Given the description of an element on the screen output the (x, y) to click on. 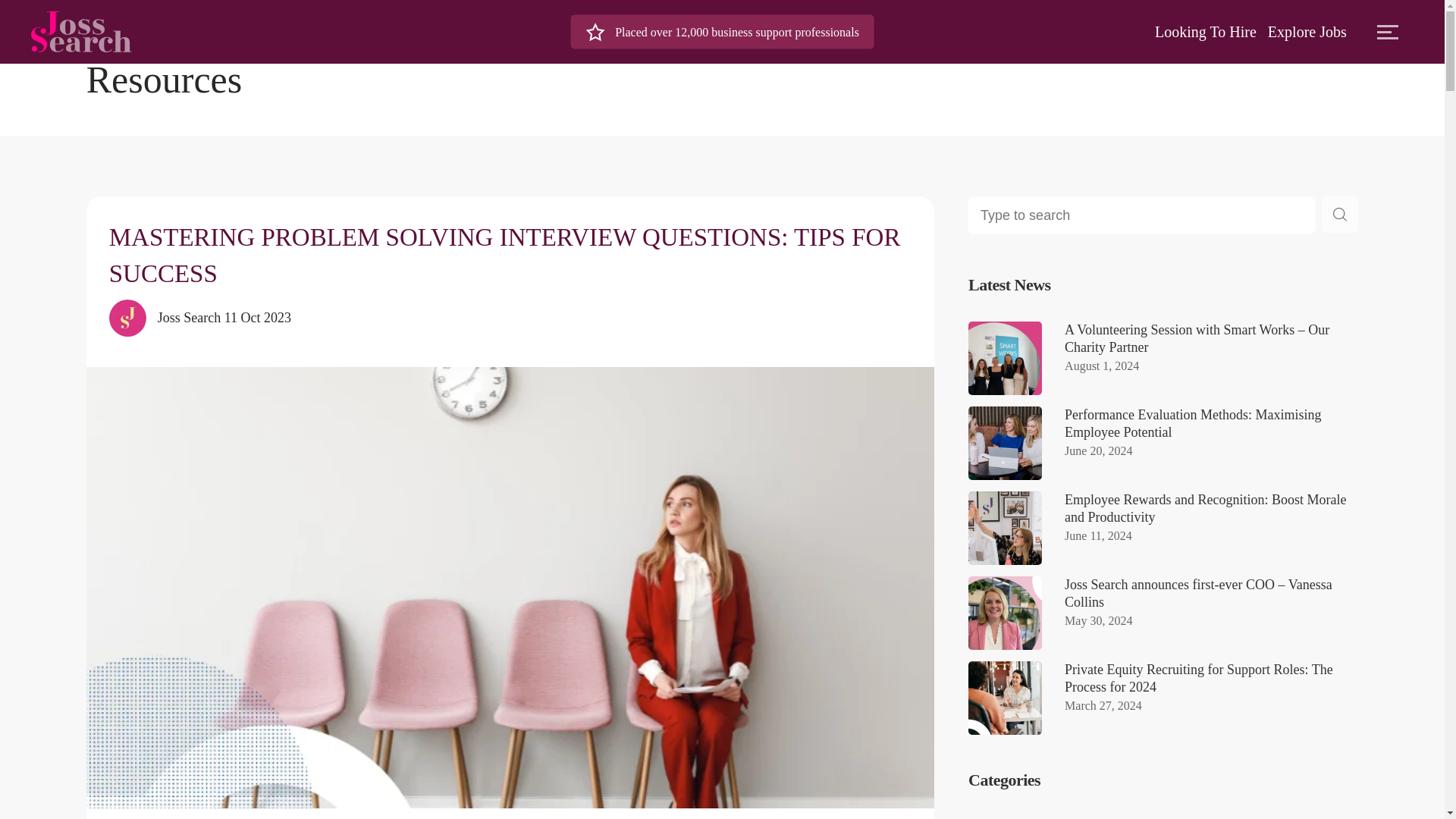
Resources (159, 26)
Explore Jobs (1307, 31)
Looking To Hire (1205, 31)
Home (101, 26)
